Given the description of an element on the screen output the (x, y) to click on. 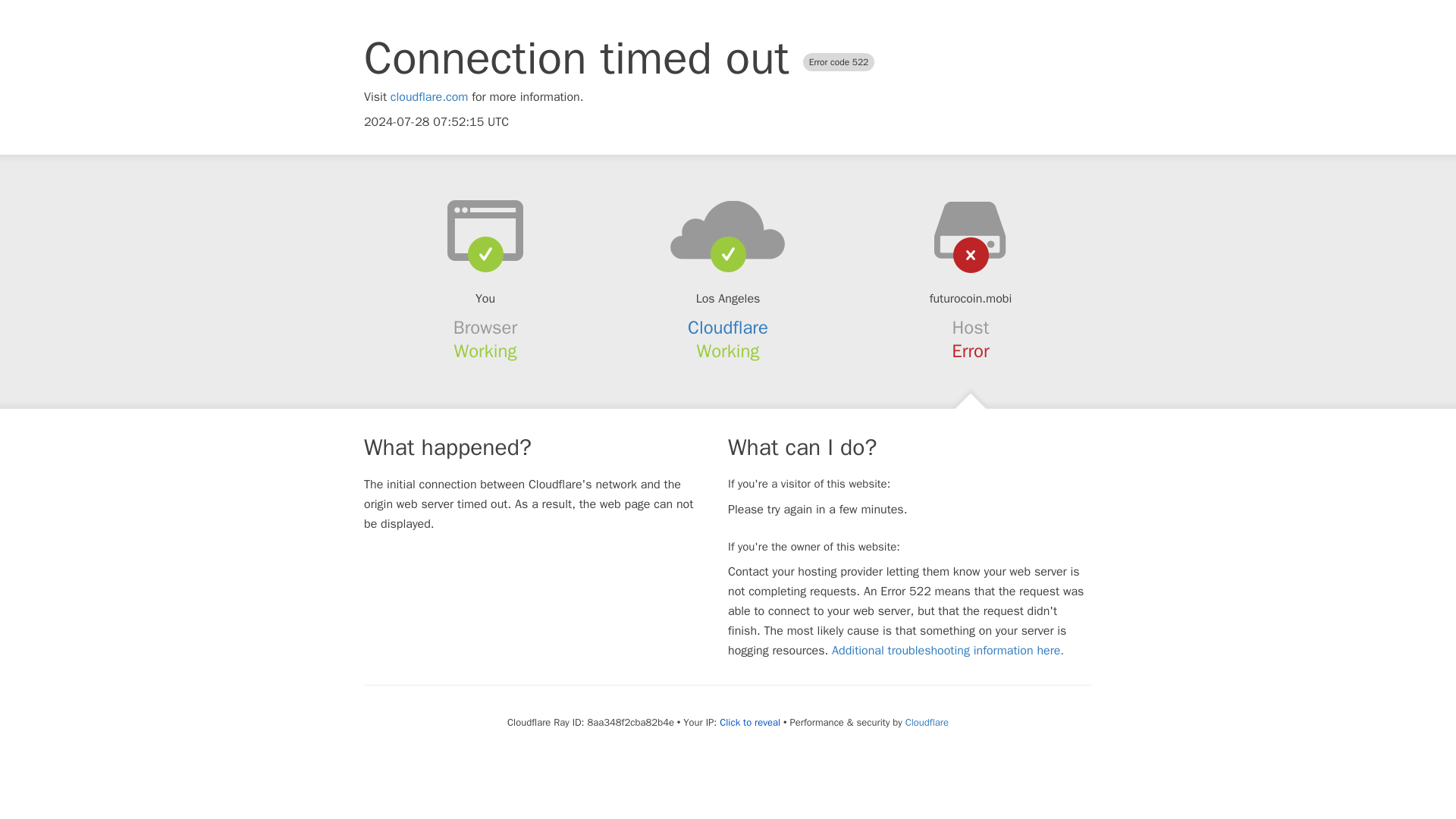
Click to reveal (749, 722)
Cloudflare (927, 721)
cloudflare.com (429, 96)
Additional troubleshooting information here. (947, 650)
Cloudflare (727, 327)
